Given the description of an element on the screen output the (x, y) to click on. 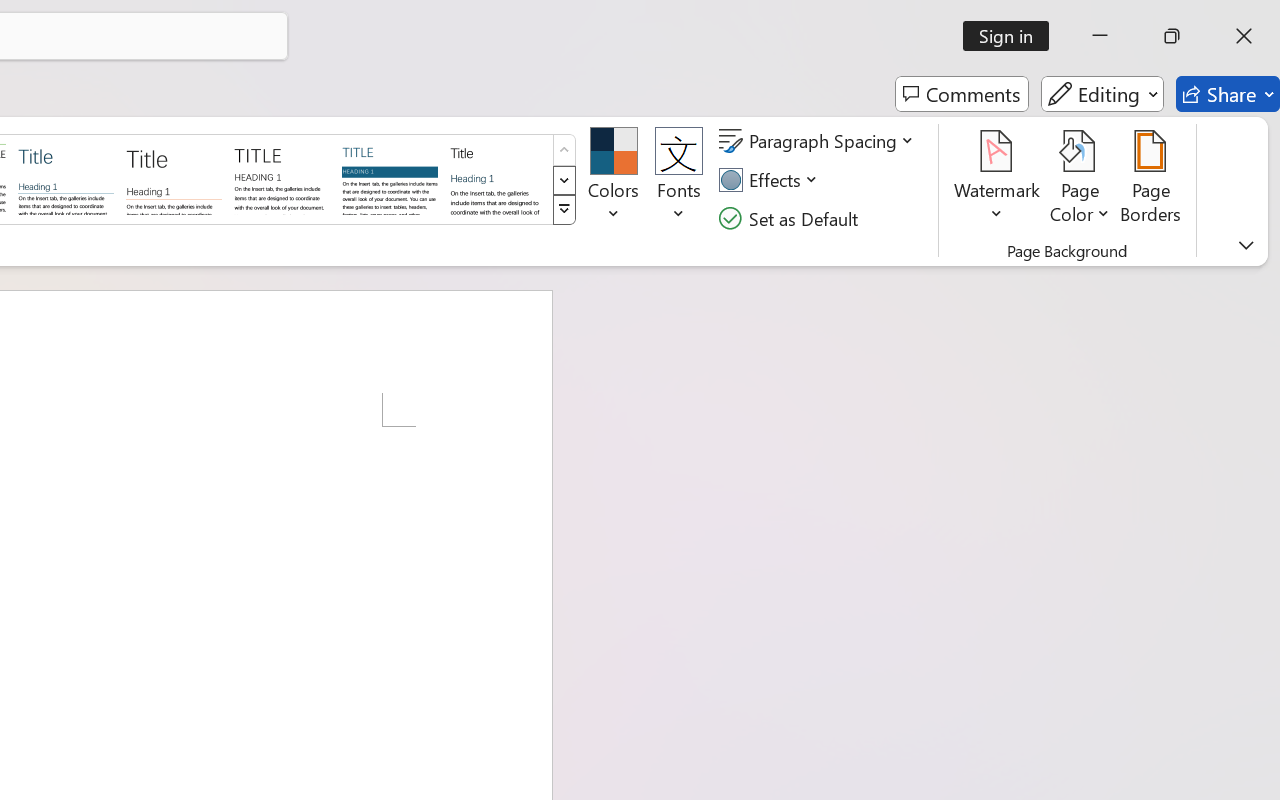
Word (497, 178)
Sign in (1012, 35)
Style Set (564, 209)
Effects (771, 179)
Set as Default (791, 218)
Page Borders... (1151, 179)
Lines (Stylish) (173, 178)
Shaded (389, 178)
Minimalist (281, 178)
